Given the description of an element on the screen output the (x, y) to click on. 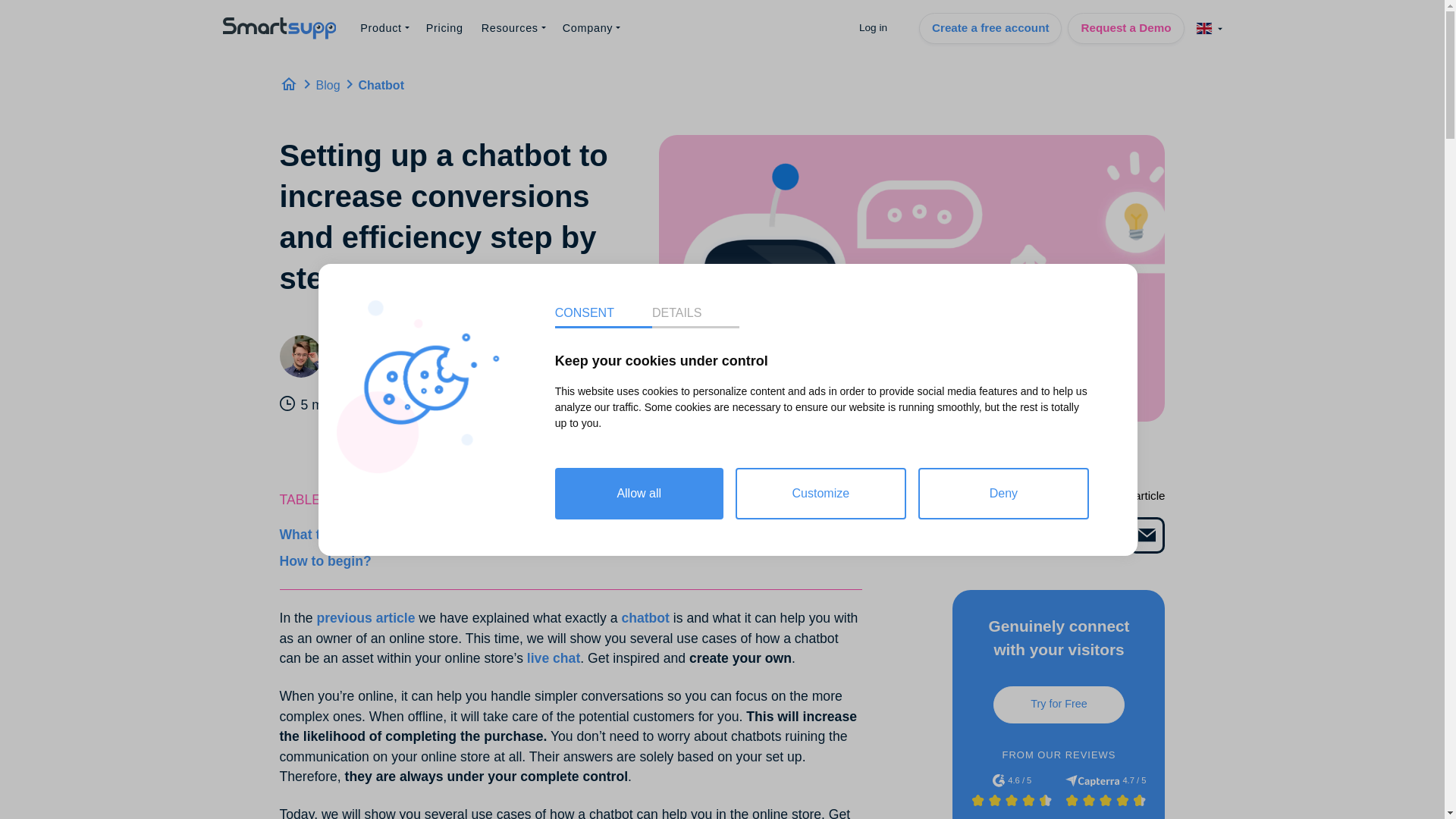
DETAILS (695, 289)
CONSENT (603, 283)
